Given the description of an element on the screen output the (x, y) to click on. 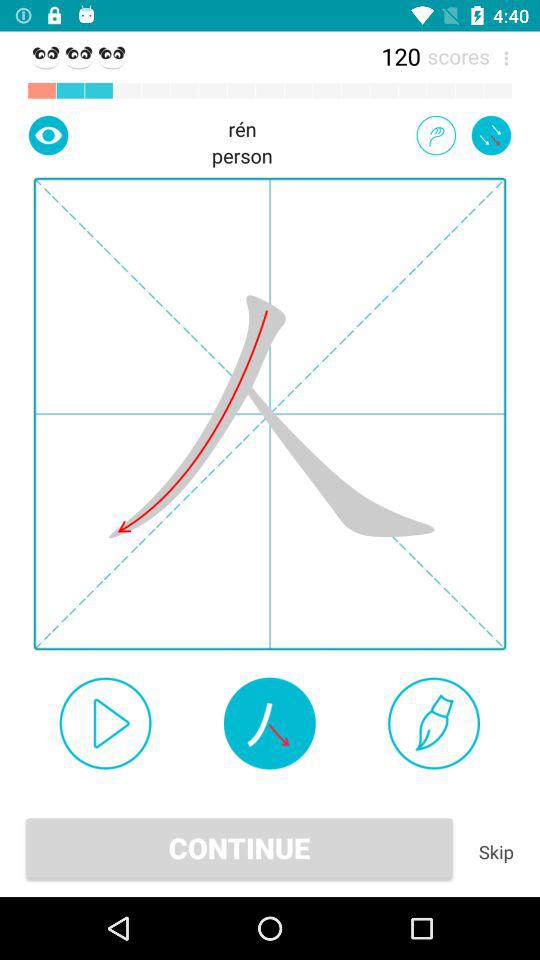
show strokes (269, 723)
